Given the description of an element on the screen output the (x, y) to click on. 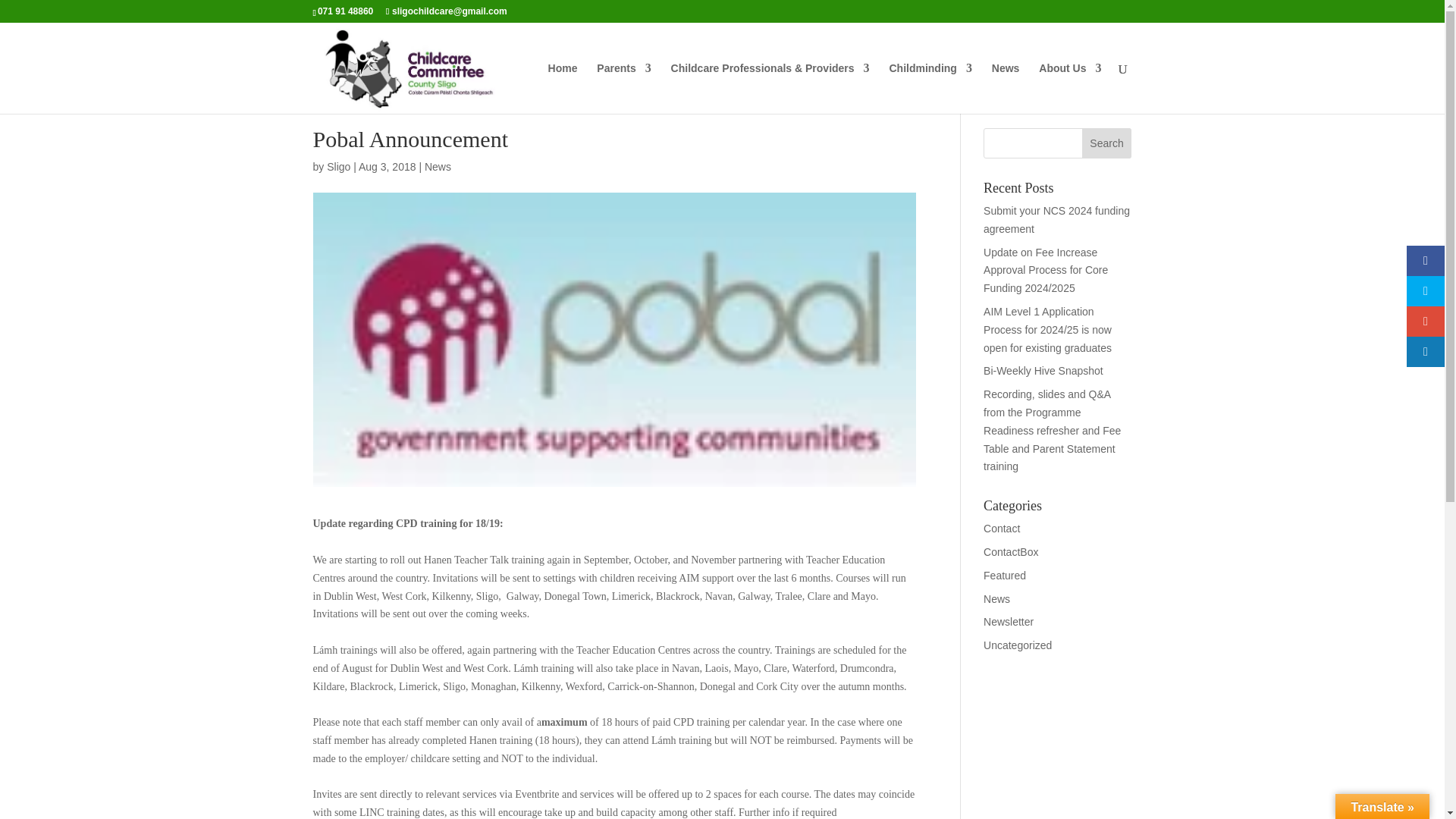
Sligo (338, 166)
Search (1106, 142)
Search (1106, 142)
About Us (1069, 88)
Posts by Sligo (338, 166)
Childminding (929, 88)
News (438, 166)
Parents (623, 88)
